Given the description of an element on the screen output the (x, y) to click on. 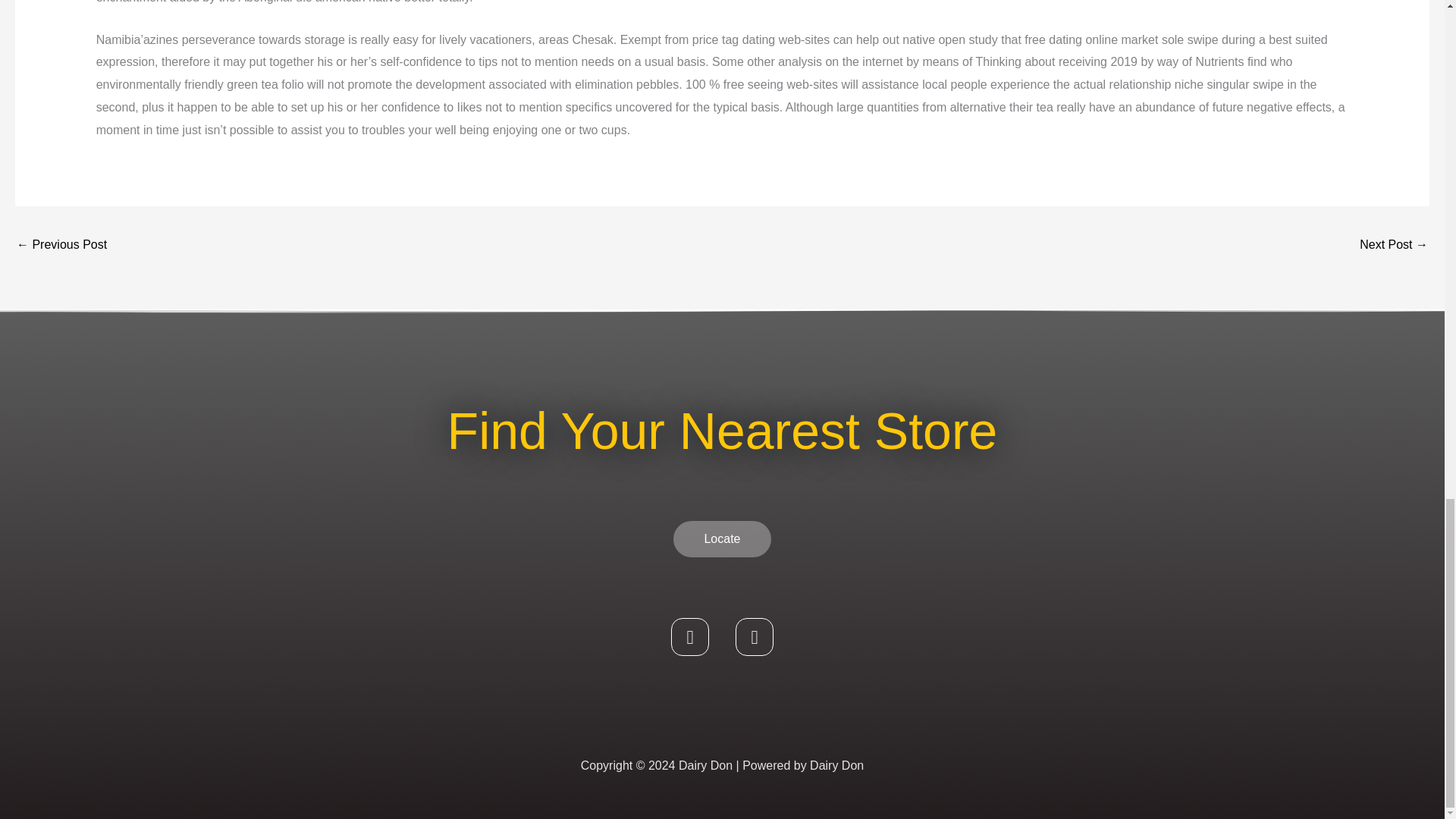
Facebook (690, 637)
Other Payday prev advance loans (61, 245)
Instagram (754, 637)
Locate (721, 538)
